Given the description of an element on the screen output the (x, y) to click on. 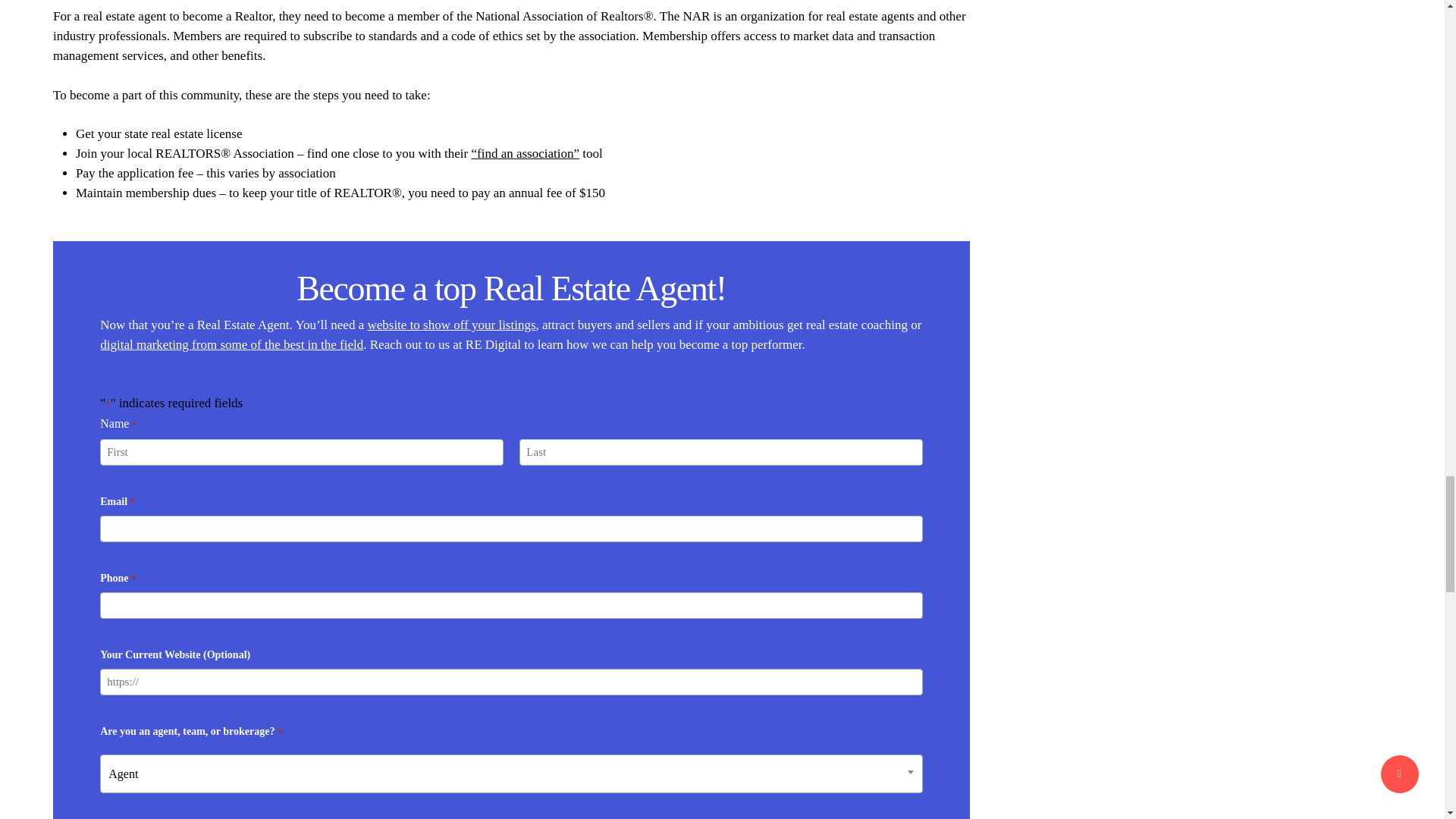
digital marketing from some of the best in the field (231, 344)
Agent (510, 772)
website to show off your listings (450, 324)
